Given the description of an element on the screen output the (x, y) to click on. 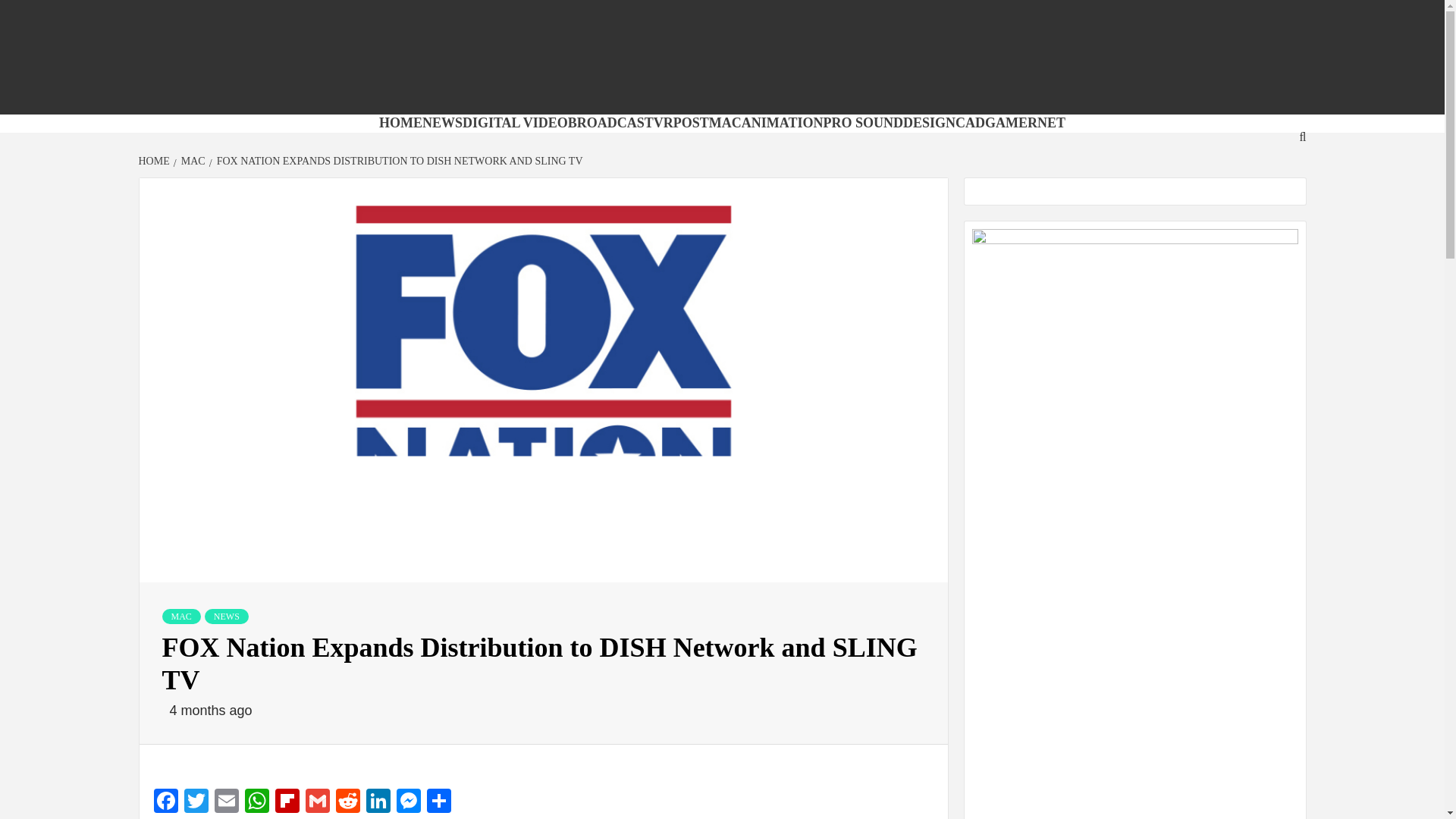
Gmail (316, 802)
Twitter (195, 802)
Reddit (346, 802)
Email (226, 802)
FOX NATION EXPANDS DISTRIBUTION TO DISH NETWORK AND SLING TV (397, 161)
POST (690, 122)
LinkedIn (377, 802)
PRO SOUND (864, 122)
Facebook (164, 802)
Messenger (408, 802)
WhatsApp (255, 802)
Twitter (195, 802)
LinkedIn (377, 802)
Email (226, 802)
MAC (725, 122)
